Given the description of an element on the screen output the (x, y) to click on. 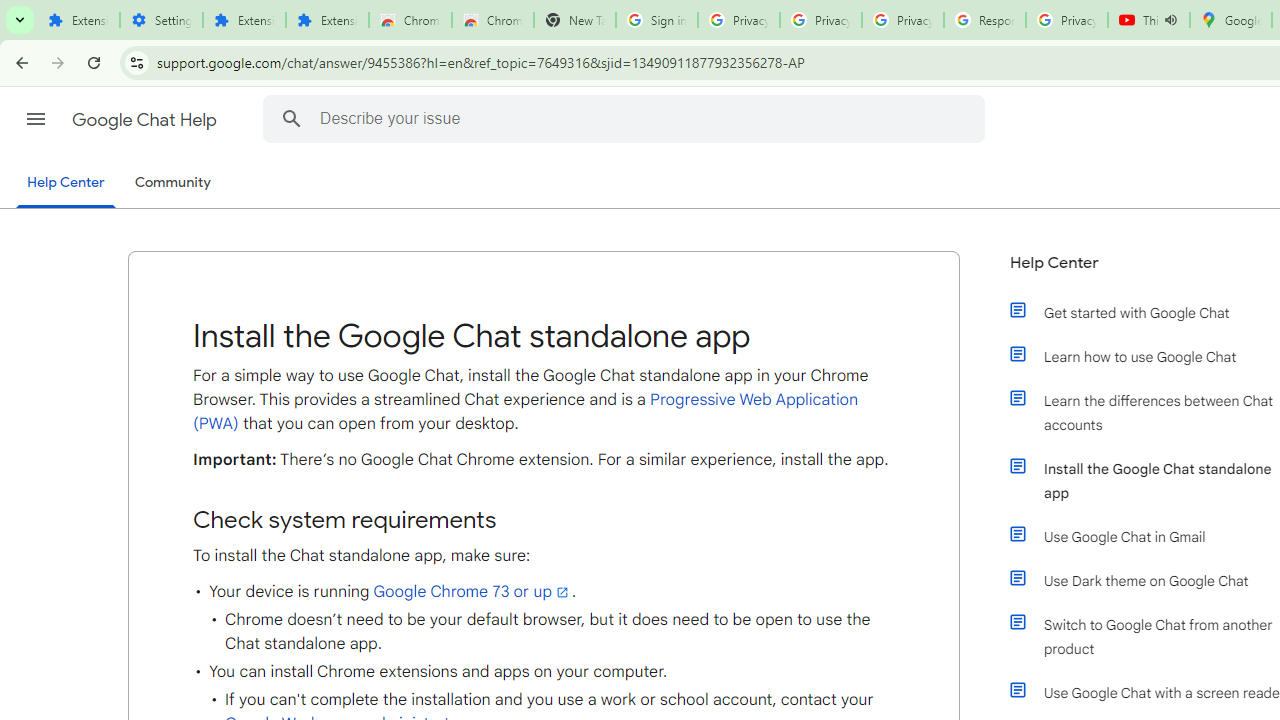
Extensions (244, 20)
Sign in - Google Accounts (656, 20)
Extensions (326, 20)
Google Chat Help (146, 119)
Main menu (35, 119)
Chrome Web Store (409, 20)
New Tab (574, 20)
Chrome Web Store - Themes (492, 20)
